Given the description of an element on the screen output the (x, y) to click on. 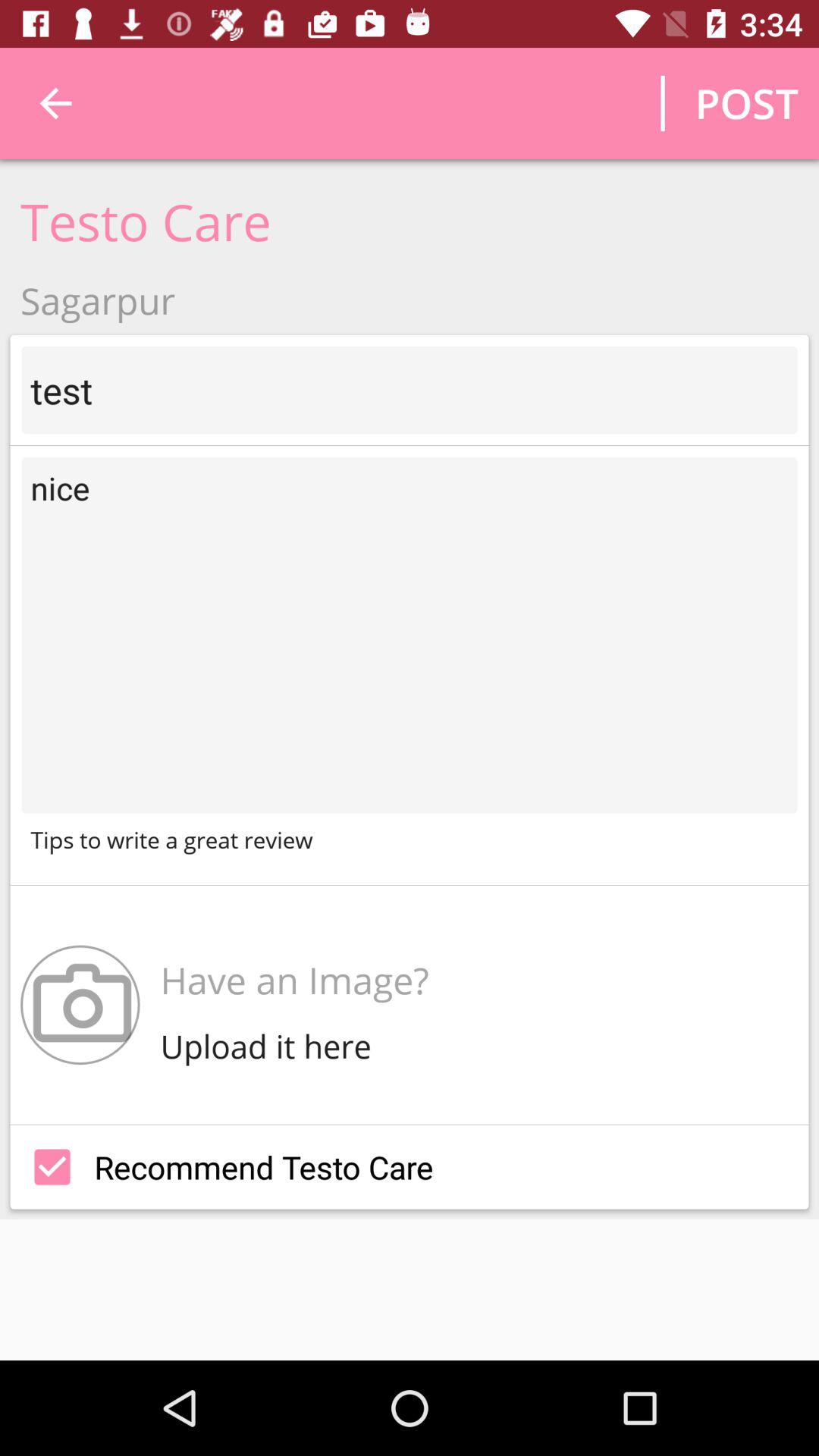
launch upload it here (270, 1045)
